Given the description of an element on the screen output the (x, y) to click on. 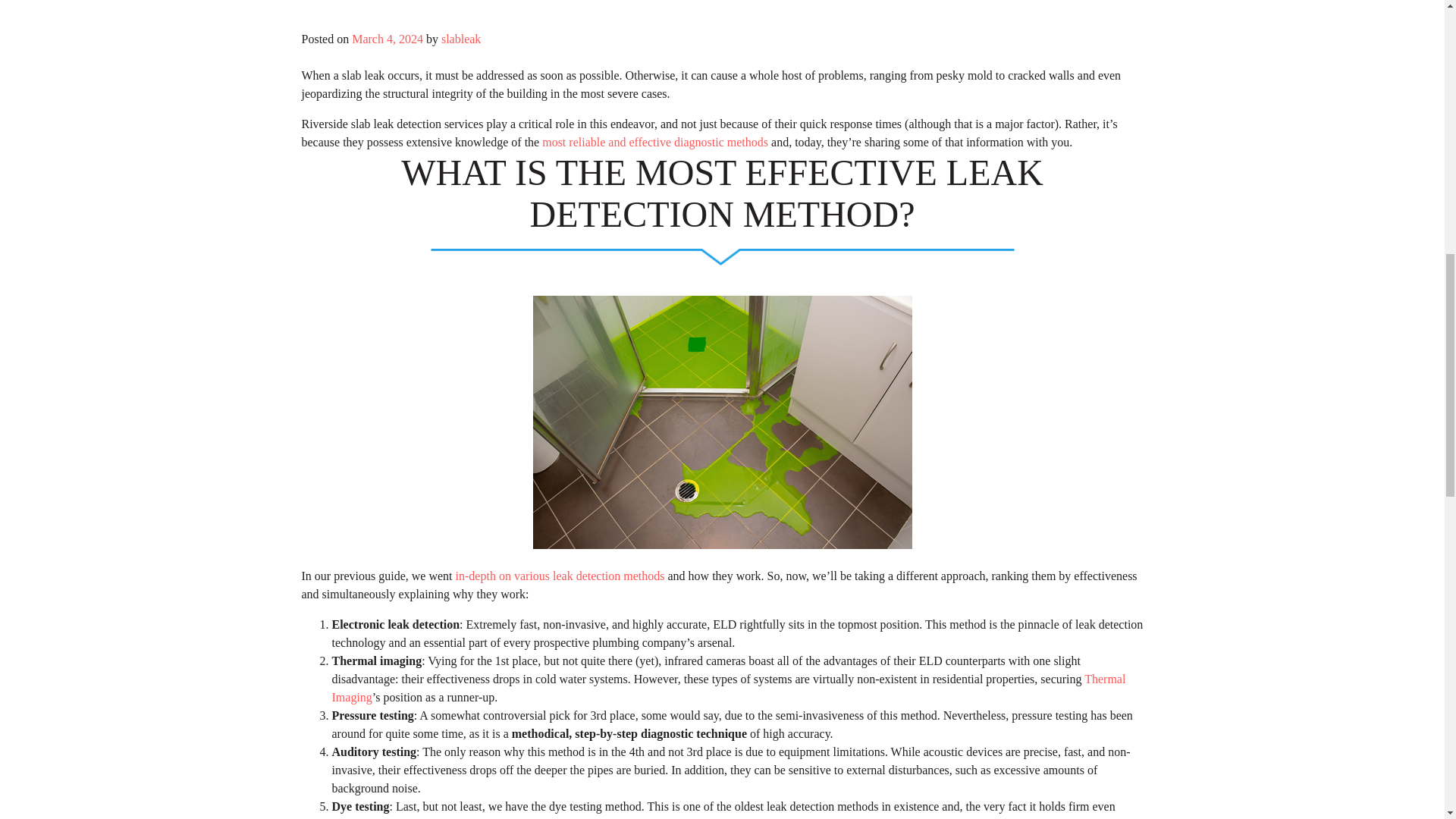
most reliable and effective diagnostic methods (654, 141)
March 4, 2024 (387, 38)
in-depth on various leak detection methods (560, 575)
Thermal Imaging (728, 687)
slableak (460, 38)
